Given the description of an element on the screen output the (x, y) to click on. 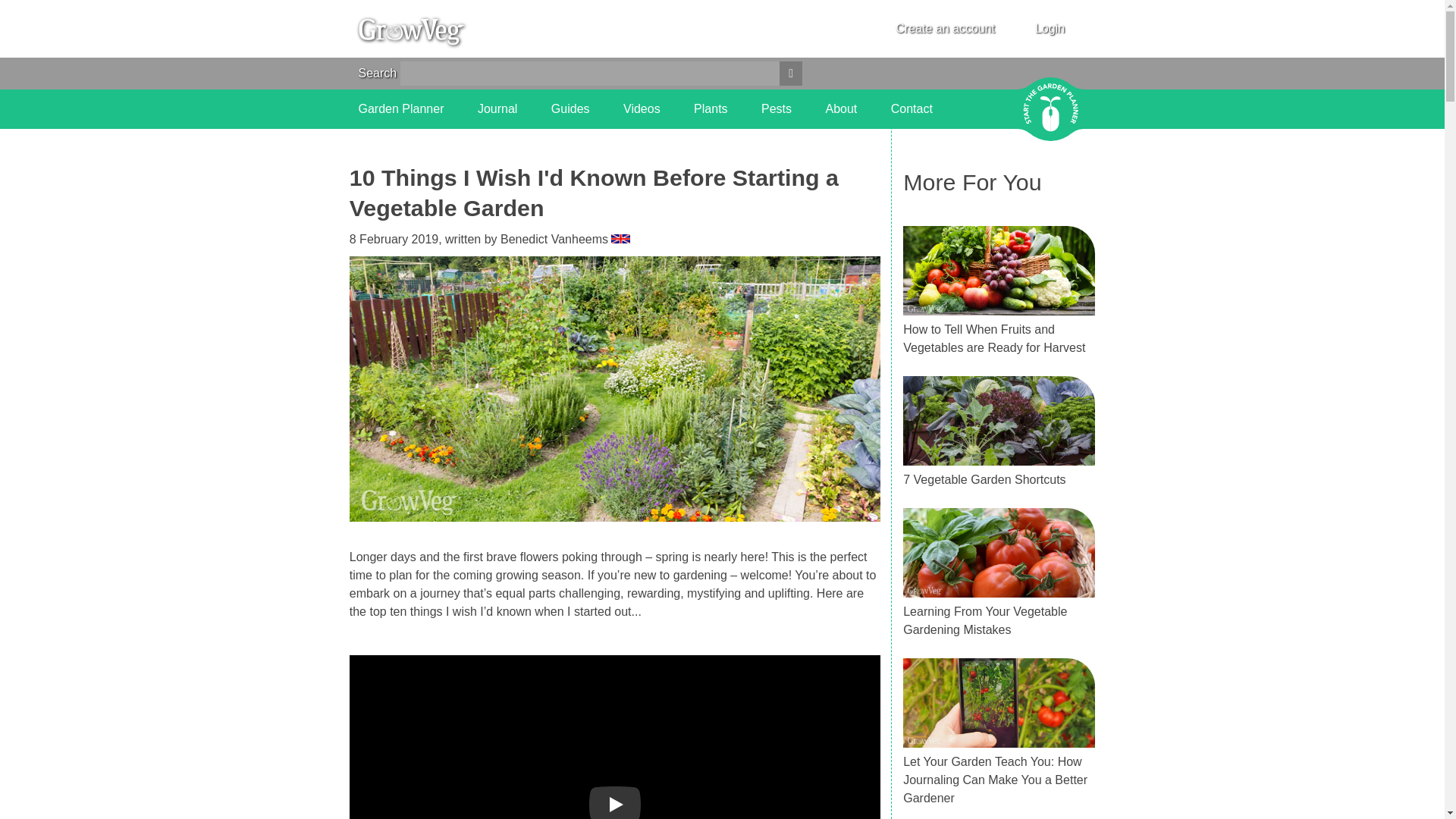
Garden Planner (401, 108)
Journal (496, 108)
Login (1049, 28)
Contact (912, 108)
Guides (570, 108)
Create an account (944, 28)
Play (614, 802)
Videos (642, 108)
